Given the description of an element on the screen output the (x, y) to click on. 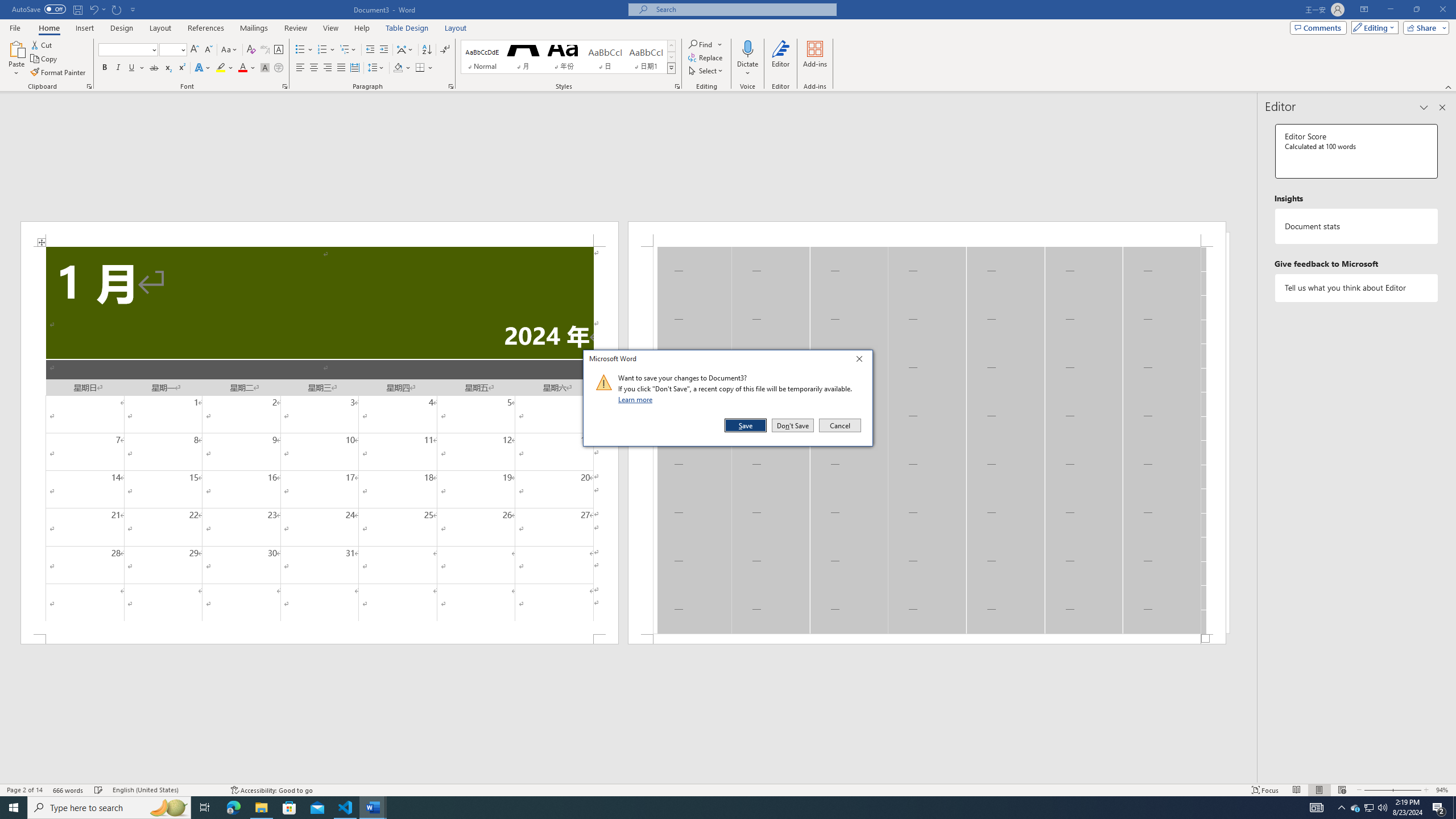
Undo Apply Quick Style (92, 9)
Justify (340, 67)
Align Left (300, 67)
Running applications (717, 807)
Save (746, 425)
Spelling and Grammar Check Checking (98, 790)
Zoom In (1407, 790)
Strikethrough (154, 67)
Character Border (278, 49)
Search highlights icon opens search home window (167, 807)
Show/Hide Editing Marks (444, 49)
Numbering (326, 49)
Format Painter (58, 72)
Decrease Indent (370, 49)
